Given the description of an element on the screen output the (x, y) to click on. 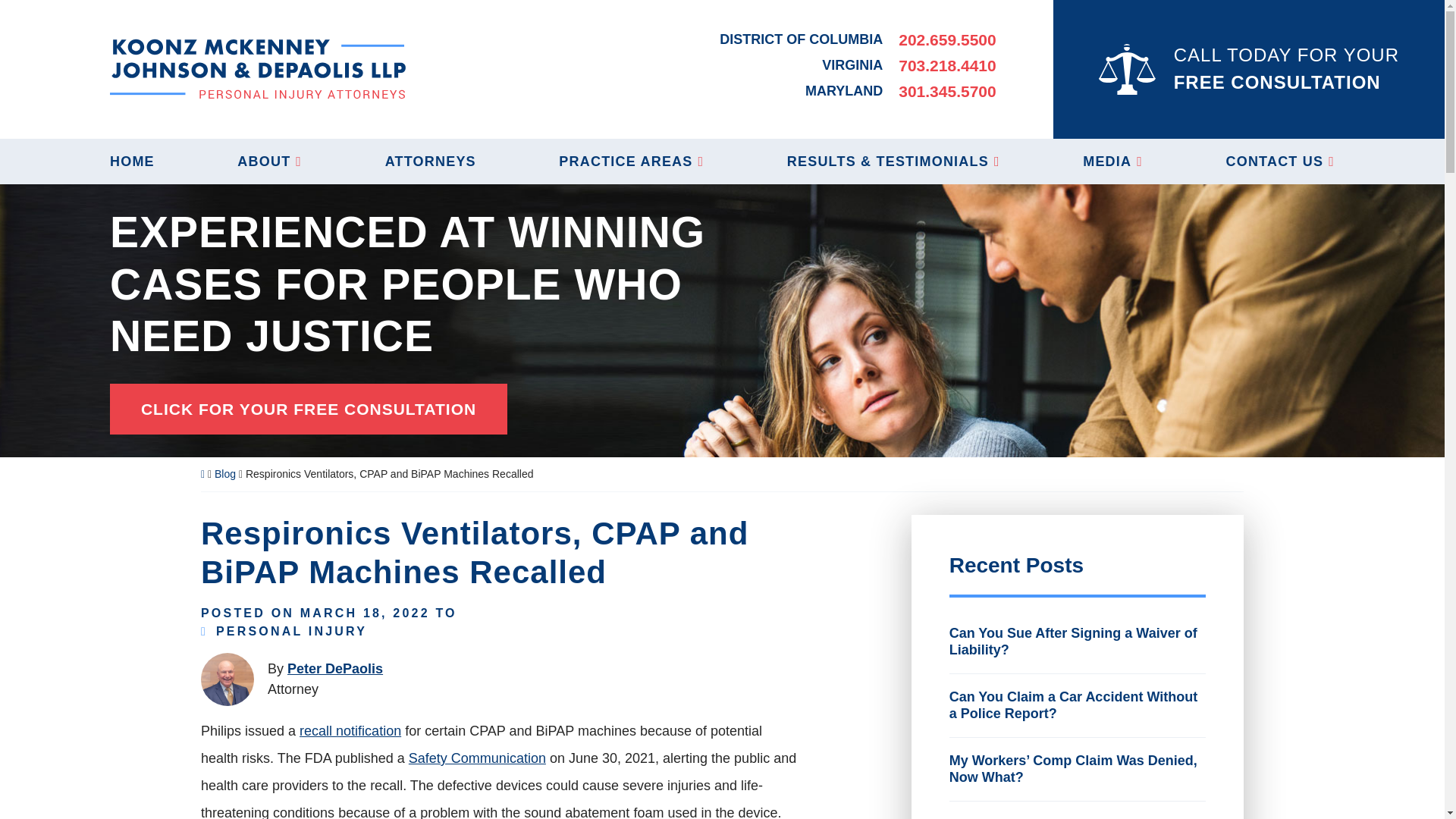
Peter DePaolis (334, 668)
Blog (224, 473)
recall notification (350, 730)
202.659.5500 (946, 39)
CLICK FOR YOUR FREE CONSULTATION (308, 409)
Return home (258, 68)
MARCH 18, 2022 (364, 612)
HOME (132, 161)
CONTACT US (1280, 161)
301.345.5700 (946, 90)
PRACTICE AREAS (631, 161)
PERSONAL INJURY (290, 631)
MEDIA (1113, 161)
703.218.4410 (946, 65)
ATTORNEYS (430, 161)
